Given the description of an element on the screen output the (x, y) to click on. 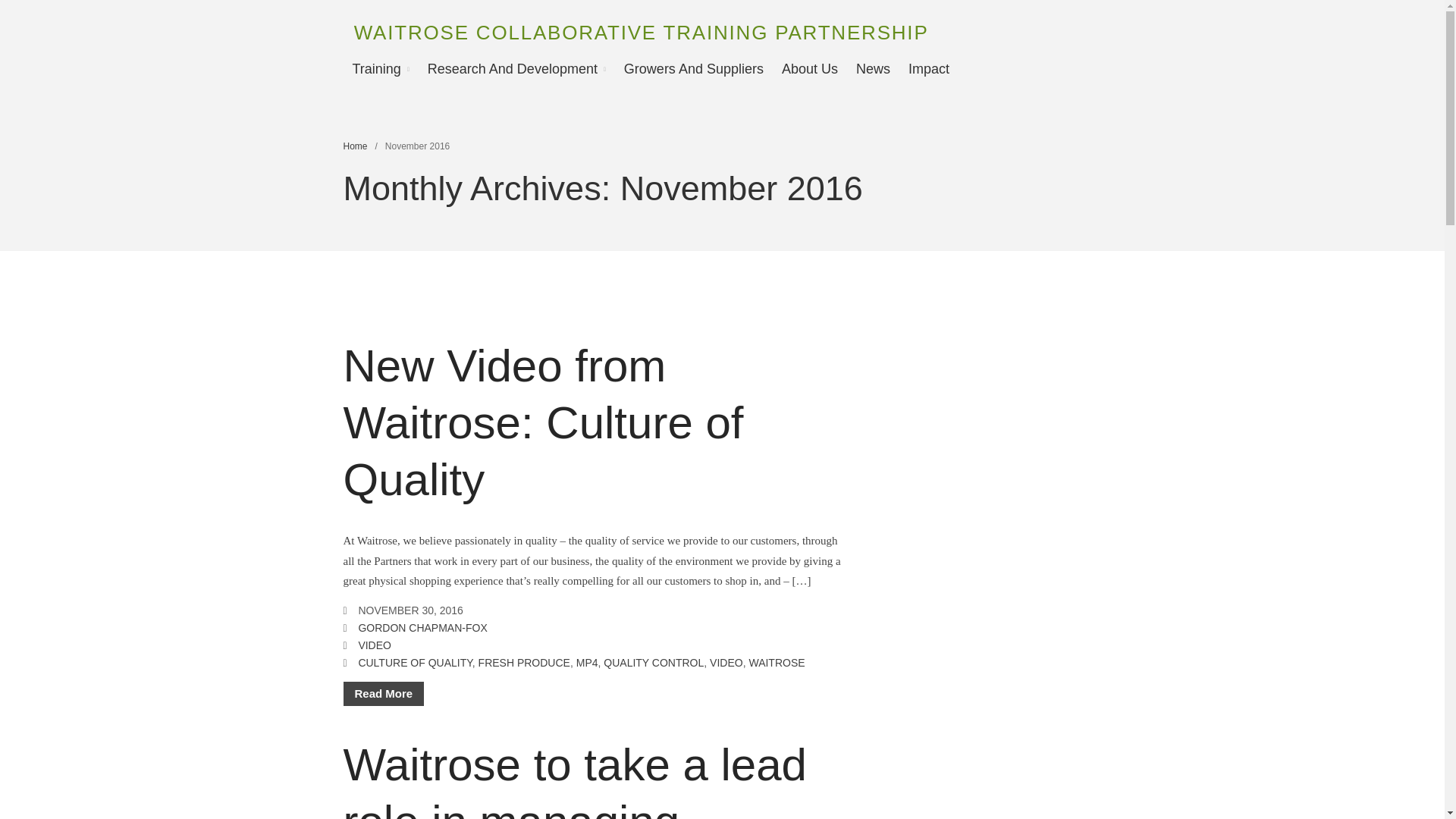
View all posts tagged video (726, 662)
View all posts in Video (374, 645)
Training (379, 69)
View all posts tagged quality control (653, 662)
View all posts tagged culture of quality (414, 662)
View all posts by Gordon Chapman-Fox (422, 627)
View all posts tagged mp4 (587, 662)
View all posts tagged waitrose (776, 662)
Search (1356, 417)
View all posts tagged fresh produce (524, 662)
